Given the description of an element on the screen output the (x, y) to click on. 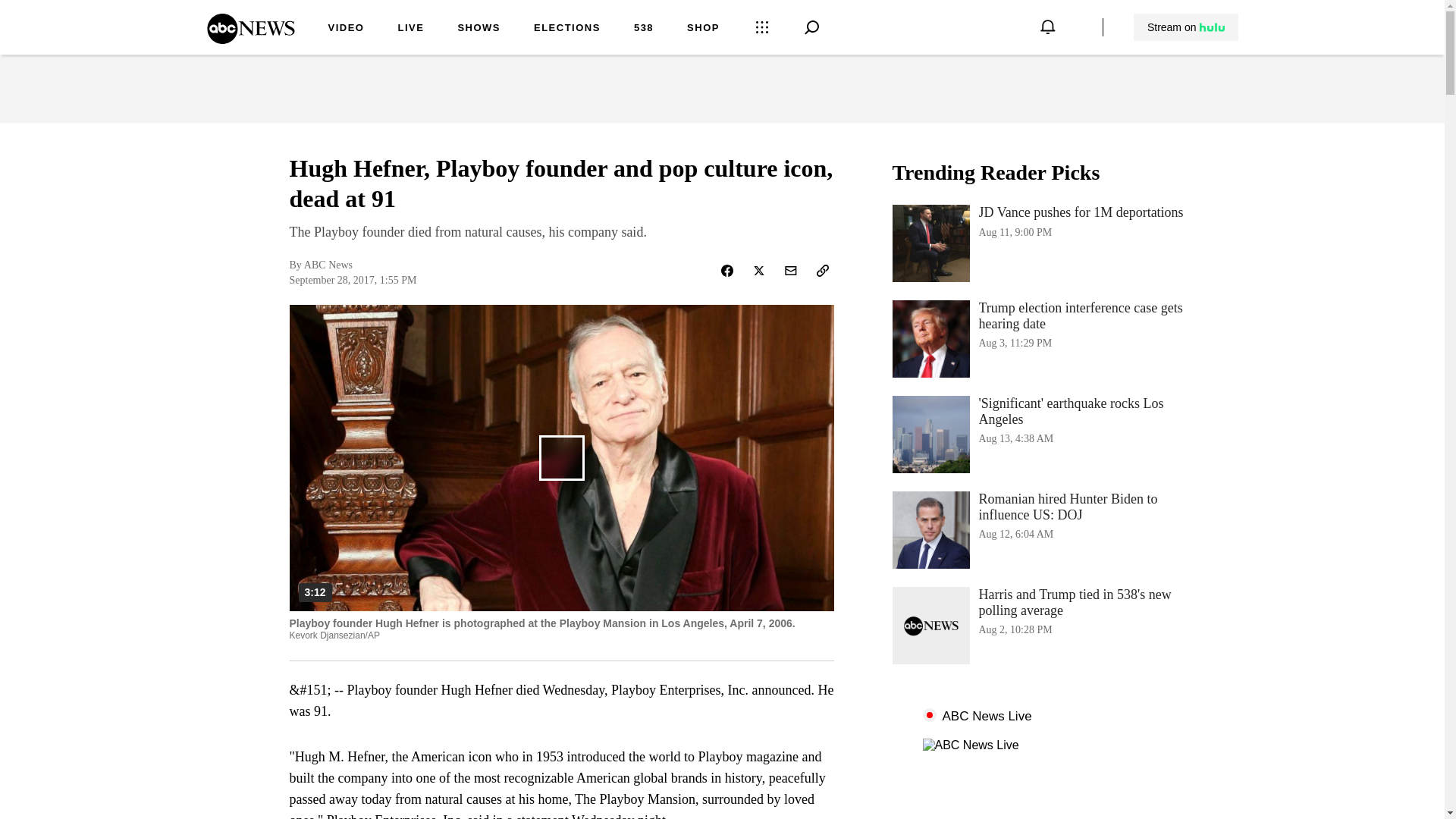
Stream on (1185, 27)
VIDEO (345, 28)
Stream on (1043, 434)
SHOWS (1186, 26)
ABC News (478, 28)
SHOP (250, 38)
